Given the description of an element on the screen output the (x, y) to click on. 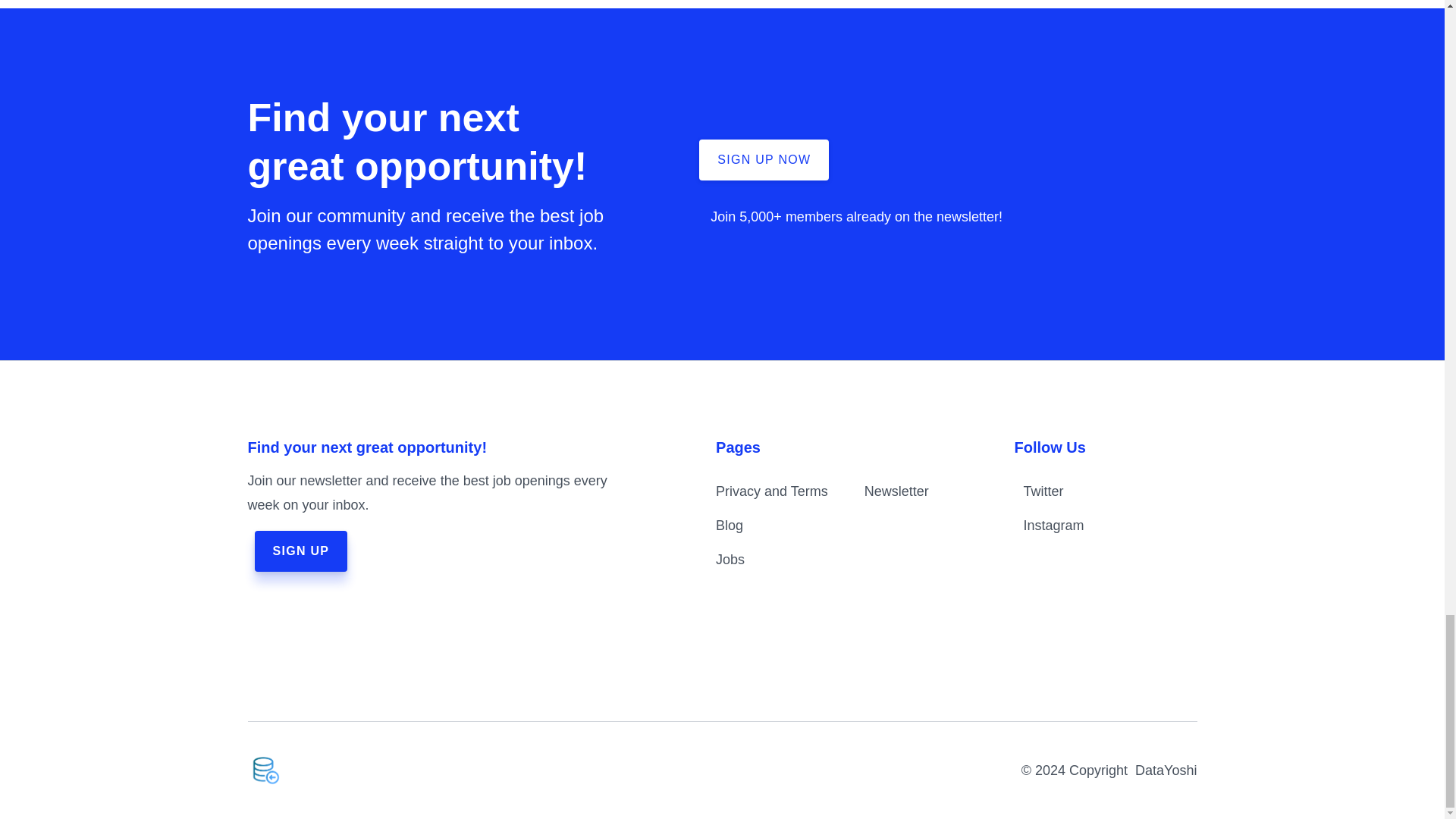
Blog (729, 525)
Twitter (1086, 491)
Newsletter (896, 491)
Instagram (1086, 525)
Jobs (730, 559)
SIGN UP (300, 550)
Privacy and Terms (772, 491)
SIGN UP NOW (763, 159)
